Given the description of an element on the screen output the (x, y) to click on. 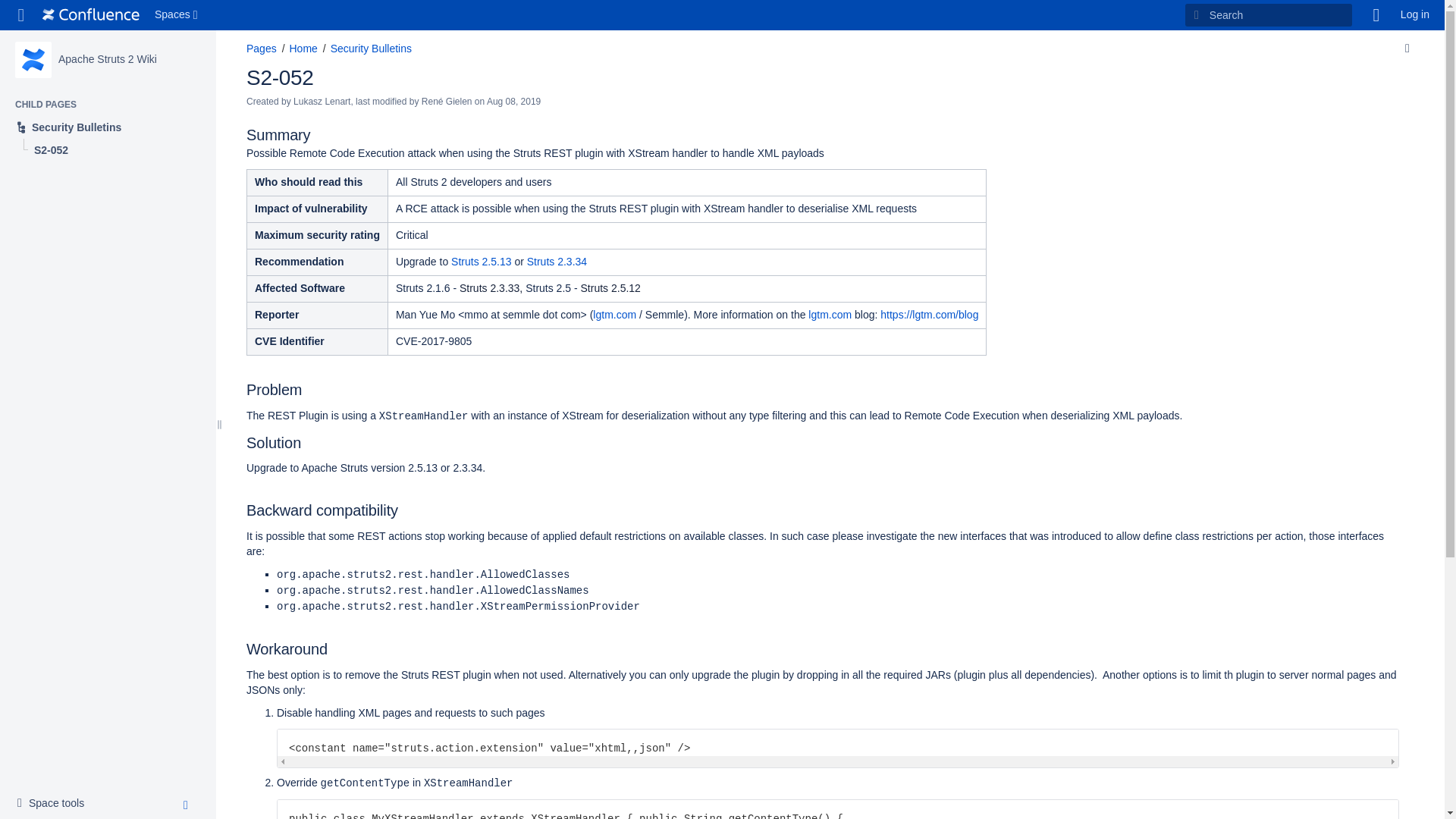
Apache Struts 2 Wiki (32, 59)
Security Bulletins (107, 127)
Log in (1415, 15)
Apache Struts 2 Wiki (107, 59)
Pages (261, 48)
Spaces (177, 15)
Security Bulletins (54, 803)
S2-052 (107, 127)
Security Bulletins (280, 77)
Linked Applications (371, 48)
Help (20, 15)
Home (1376, 15)
Apache Software Foundation (302, 48)
Spaces (90, 15)
